Given the description of an element on the screen output the (x, y) to click on. 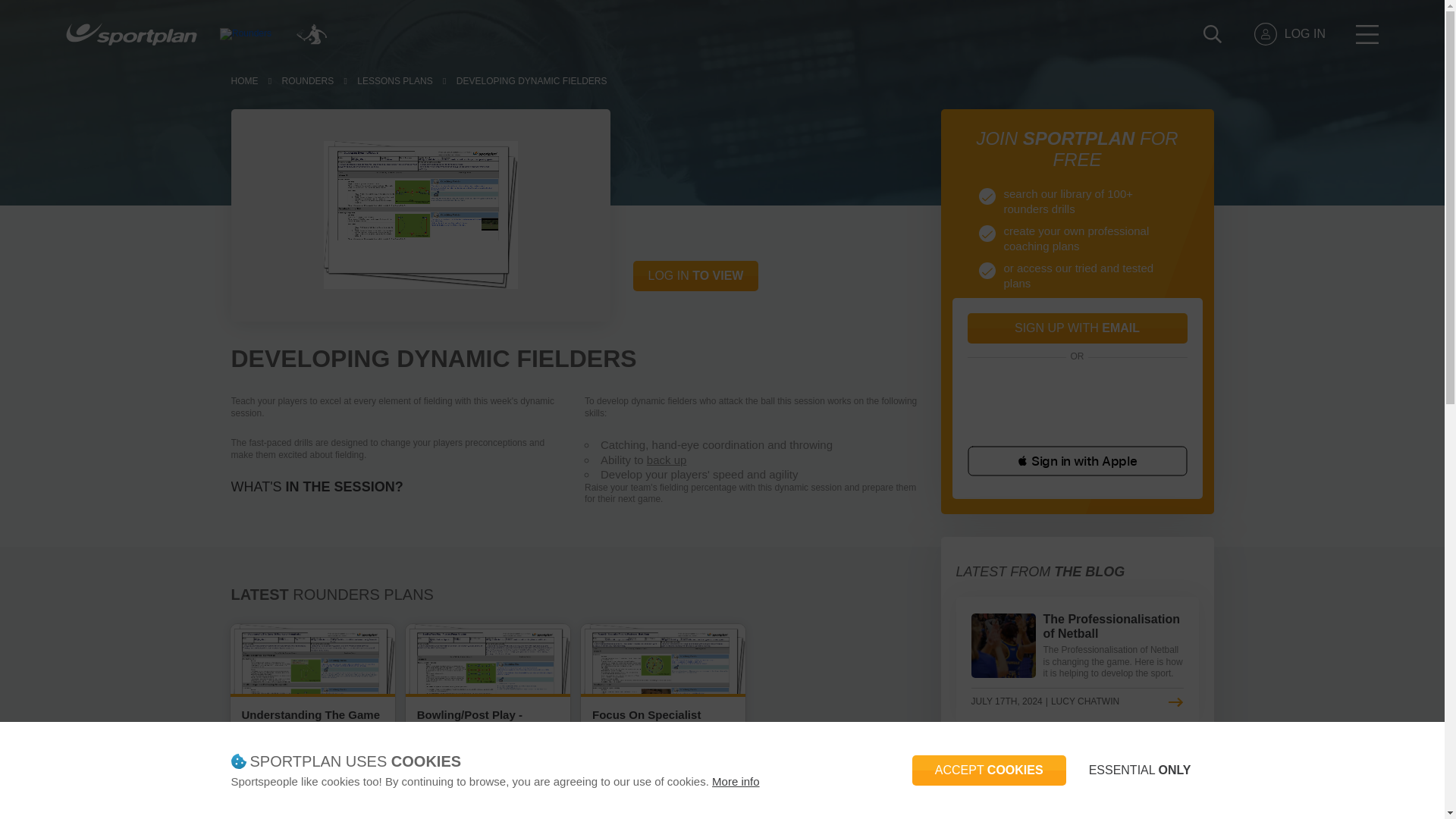
HOME (243, 81)
LOG IN TO VIEW (694, 276)
ROUNDERS (308, 81)
DEVELOPING DYNAMIC FIELDERS (532, 81)
back up (666, 459)
LOG IN (1288, 33)
LESSONS PLANS (394, 81)
